Given the description of an element on the screen output the (x, y) to click on. 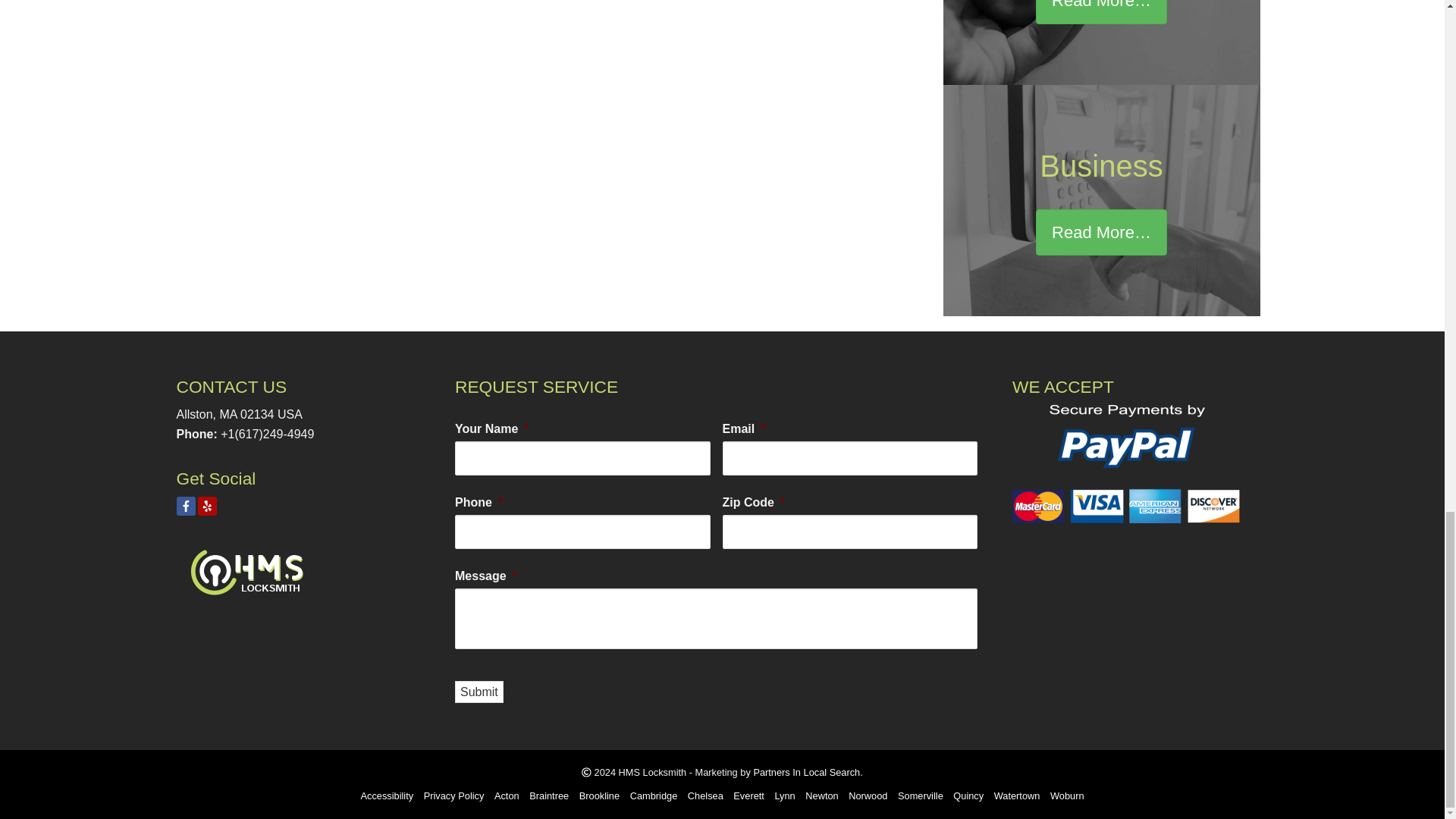
Submit (478, 691)
Yelp (205, 505)
Partners In Local Search (806, 772)
Website Marketing by Partners In Local Search (806, 772)
Submit (478, 691)
Facebook (185, 505)
